Given the description of an element on the screen output the (x, y) to click on. 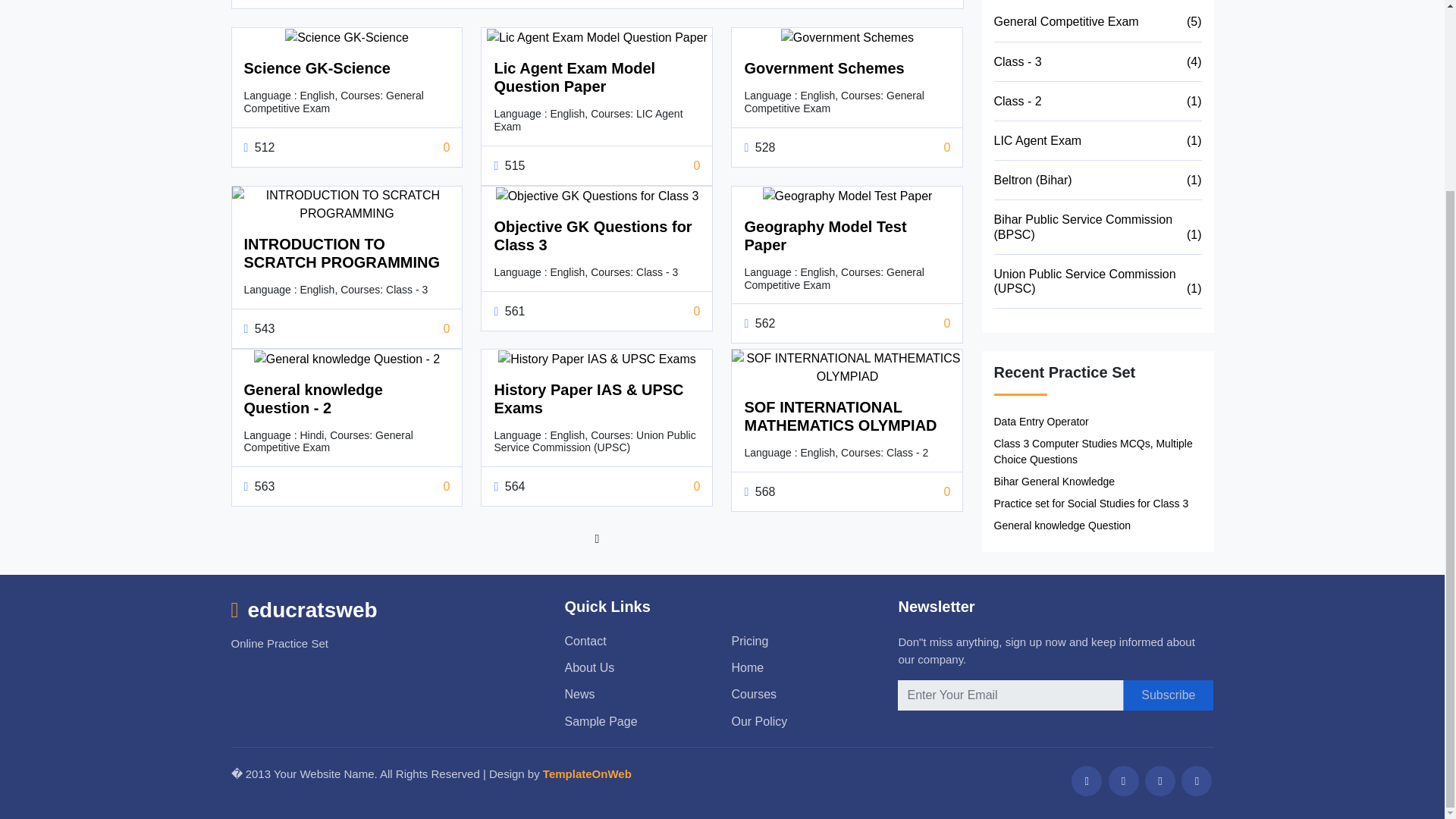
SOF INTERNATIONAL MATHEMATICS OLYMPIAD (840, 416)
Linkedin (1195, 780)
Objective GK Questions for Class 3 (592, 235)
Lic Agent Exam Model Question Paper (574, 77)
Science GK-Science (317, 67)
Facebook (1123, 780)
General knowledge Question - 2 (313, 398)
Twitter (1159, 780)
INTRODUCTION TO SCRATCH PROGRAMMING (342, 253)
Geography Model Test Paper (824, 235)
Rss (1086, 780)
Government Schemes (824, 67)
